Given the description of an element on the screen output the (x, y) to click on. 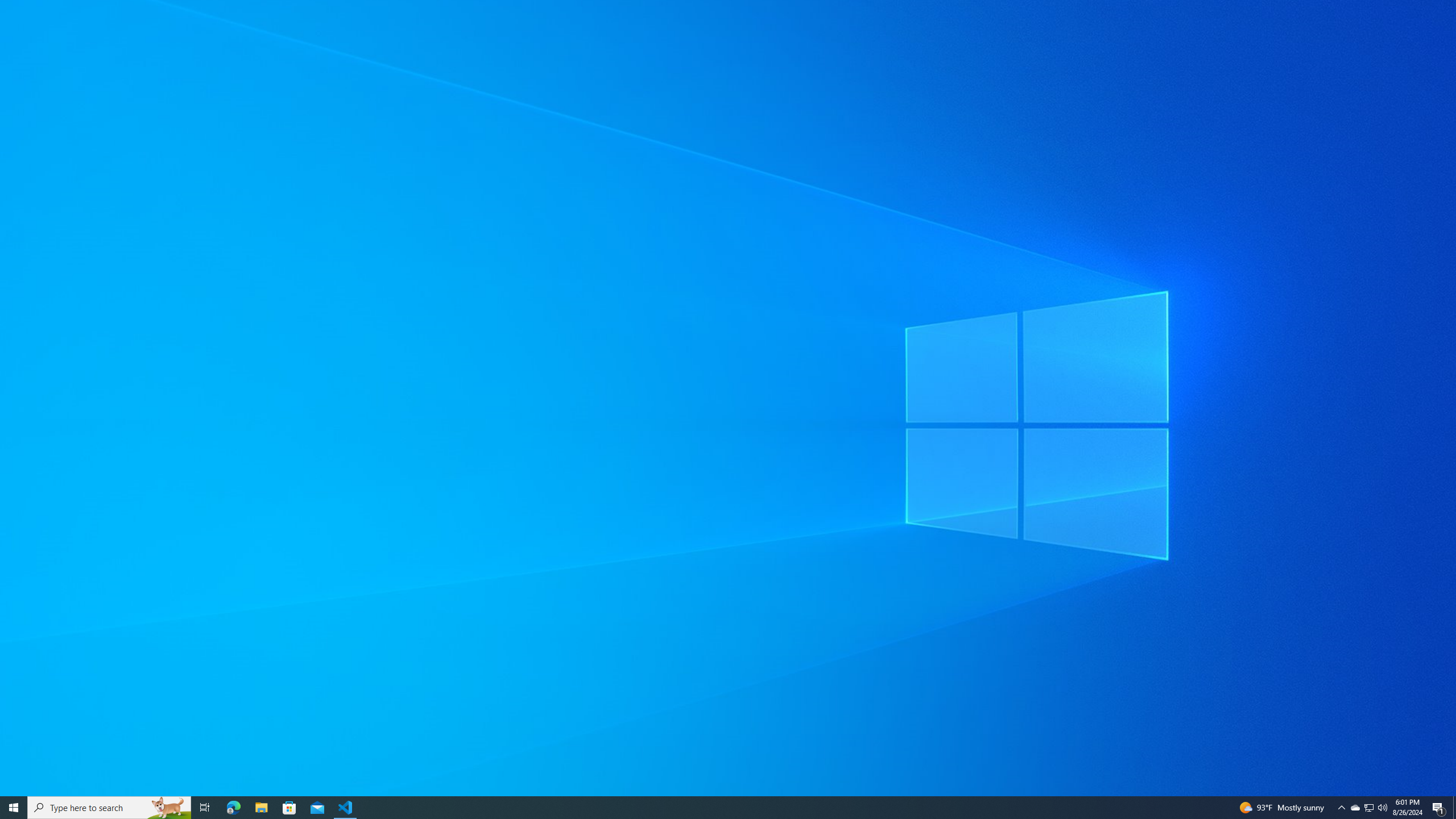
Microsoft Store (1368, 807)
Visual Studio Code - 1 running window (289, 807)
Microsoft Edge (345, 807)
Show desktop (233, 807)
Notification Chevron (1454, 807)
Task View (1341, 807)
Start (204, 807)
User Promoted Notification Area (13, 807)
Action Center, 1 new notification (1368, 807)
Running applications (1439, 807)
Type here to search (717, 807)
File Explorer (1355, 807)
